Given the description of an element on the screen output the (x, y) to click on. 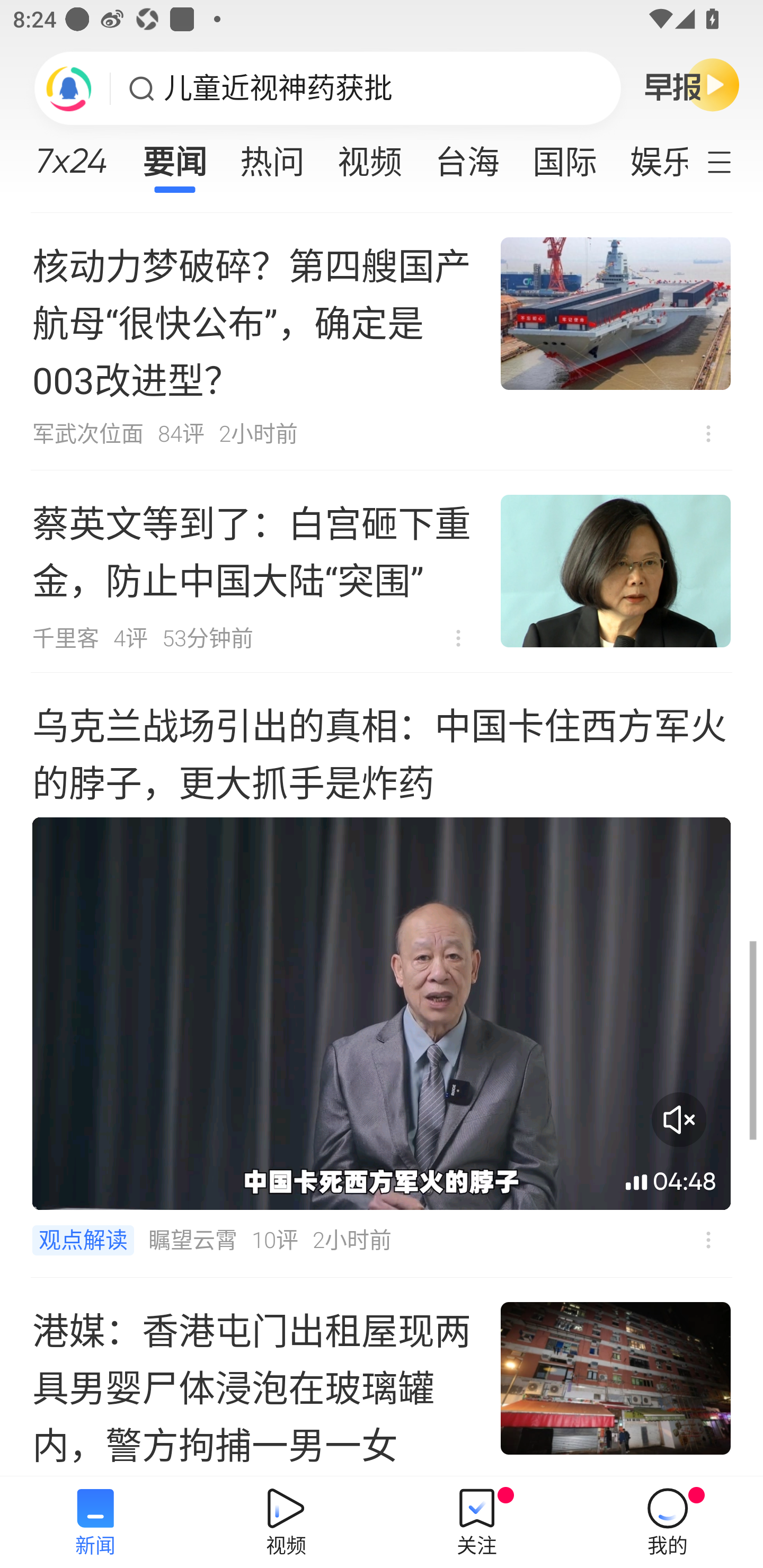
早晚报 (691, 84)
刷新 (68, 88)
儿童近视神药获批 (278, 88)
7x24 (70, 154)
要闻 (174, 155)
热问 (272, 155)
视频 (369, 155)
台海 (466, 155)
国际 (564, 155)
娱乐 (650, 155)
 定制频道 (731, 160)
 不感兴趣 (707, 433)
蔡英文等到了：白宫砸下重金，防止中国大陆“突围” 千里客 4评 53分钟前  不感兴趣 (381, 571)
 不感兴趣 (458, 638)
音量开关 (678, 1119)
 不感兴趣 (707, 1240)
港媒：香港屯门出租屋现两具男婴尸体浸泡在玻璃罐内，警方拘捕一男一女 (381, 1377)
